Given the description of an element on the screen output the (x, y) to click on. 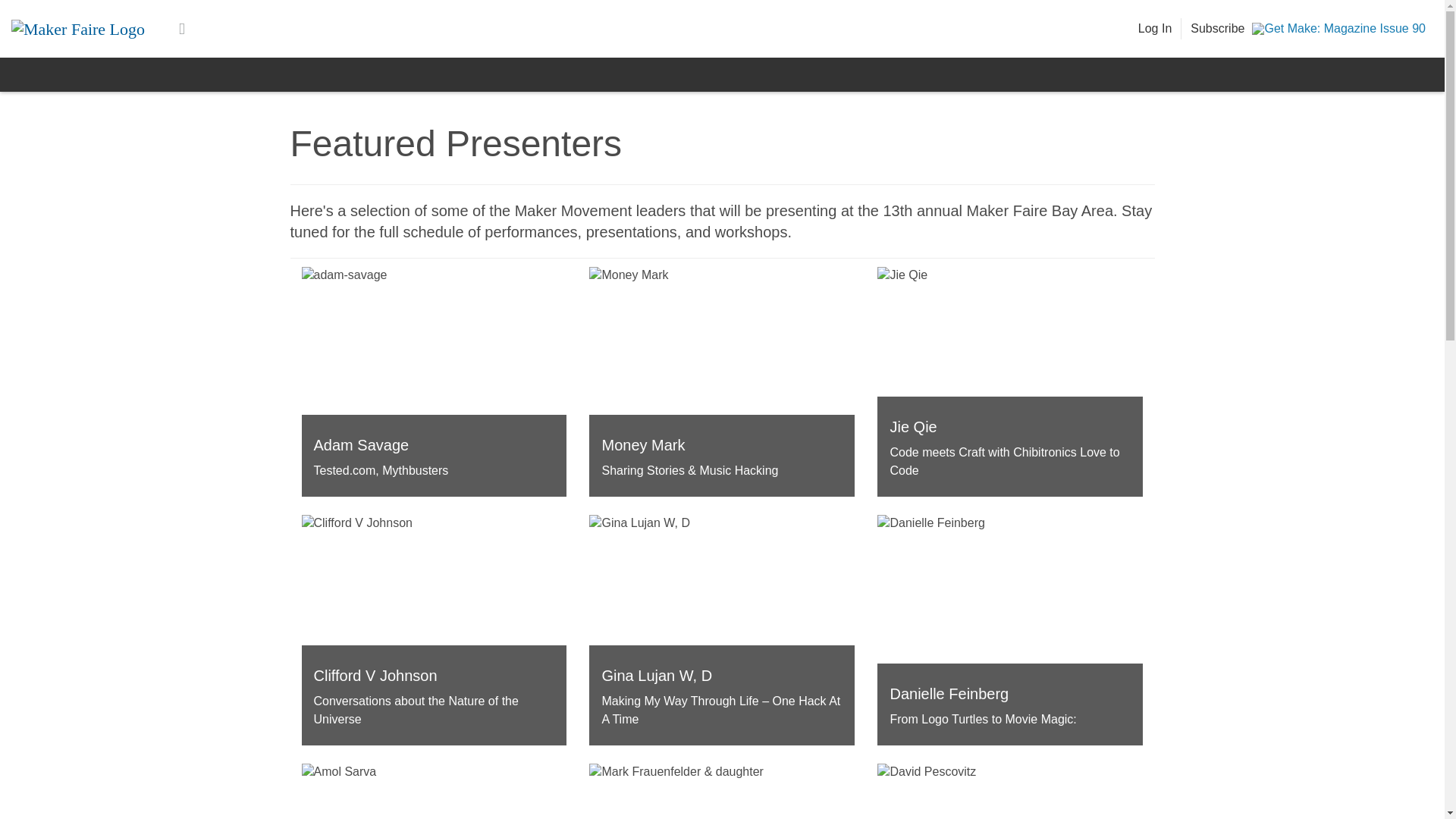
Log In (1155, 28)
